Given the description of an element on the screen output the (x, y) to click on. 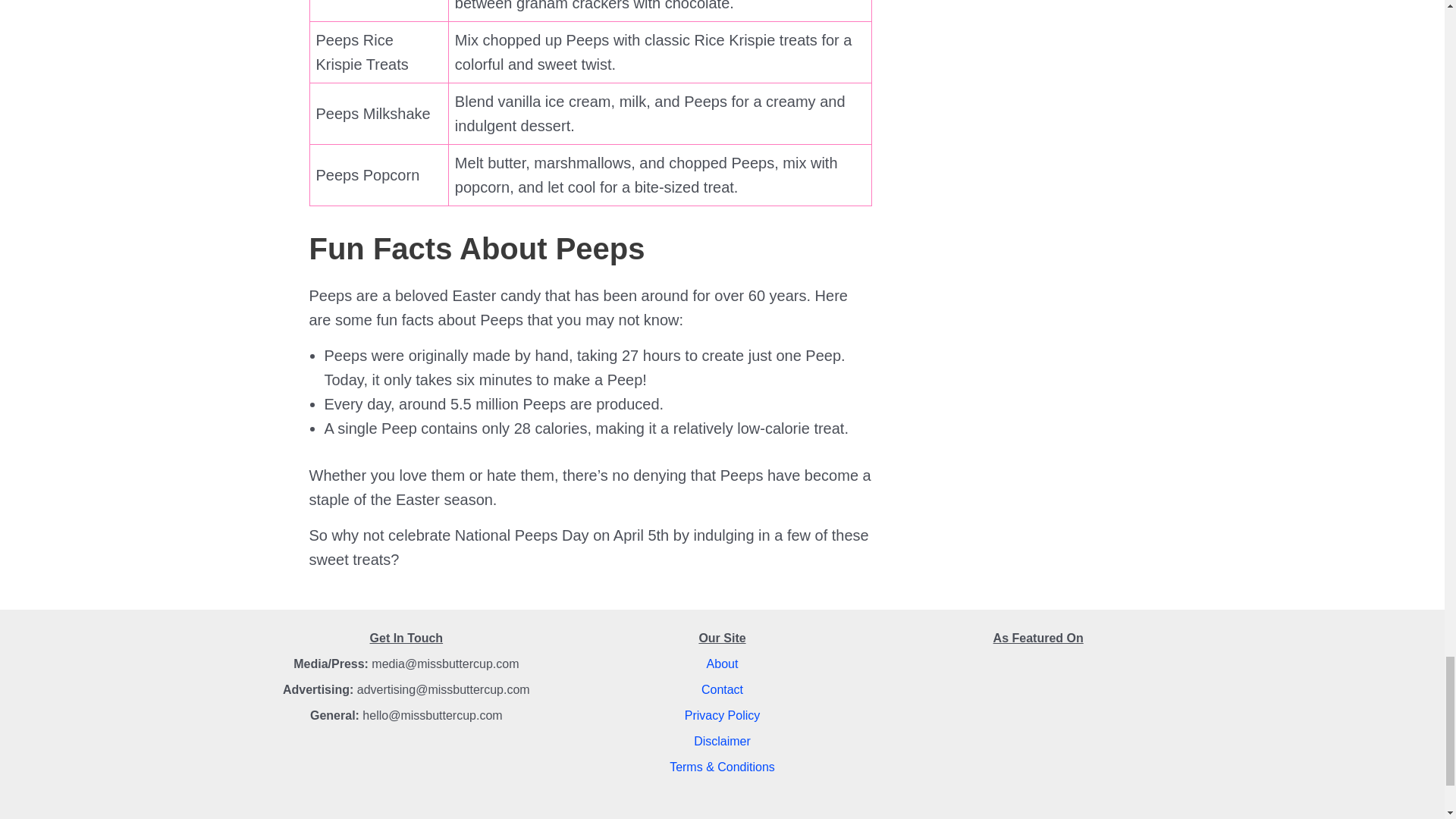
About (722, 663)
Privacy Policy (722, 715)
Disclaimer (722, 740)
Contact (721, 689)
